Given the description of an element on the screen output the (x, y) to click on. 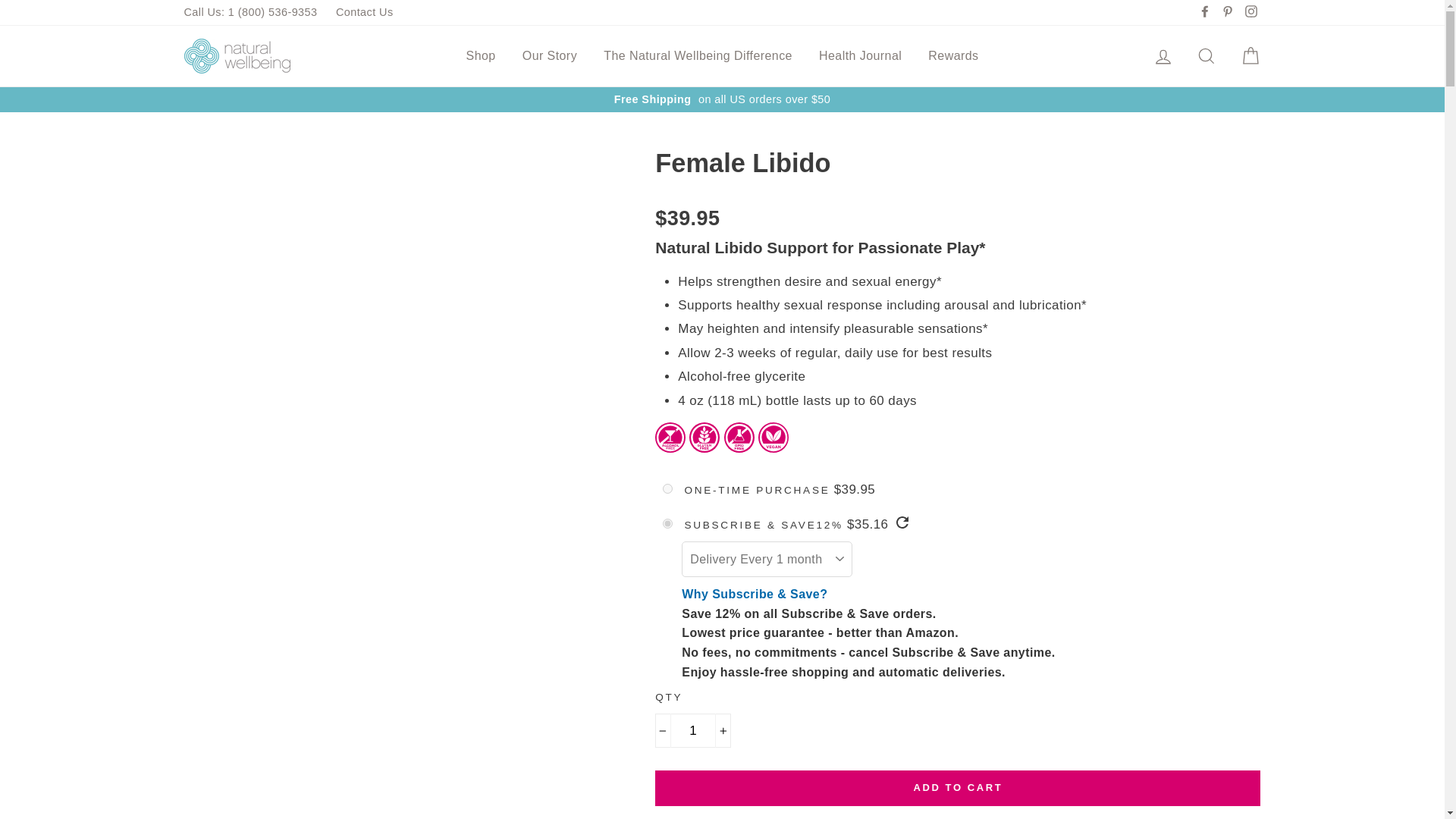
onetime (667, 488)
1 (692, 730)
Our Story (549, 56)
subsave (667, 523)
The Natural Wellbeing Difference (697, 56)
Contact Us (365, 12)
Shop (480, 56)
